Given the description of an element on the screen output the (x, y) to click on. 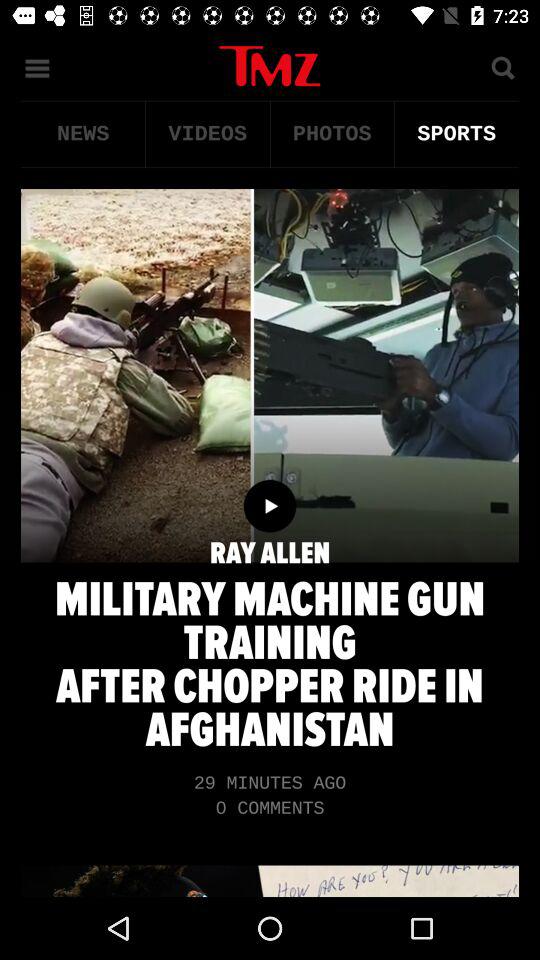
launch icon to the right of the news item (207, 133)
